Given the description of an element on the screen output the (x, y) to click on. 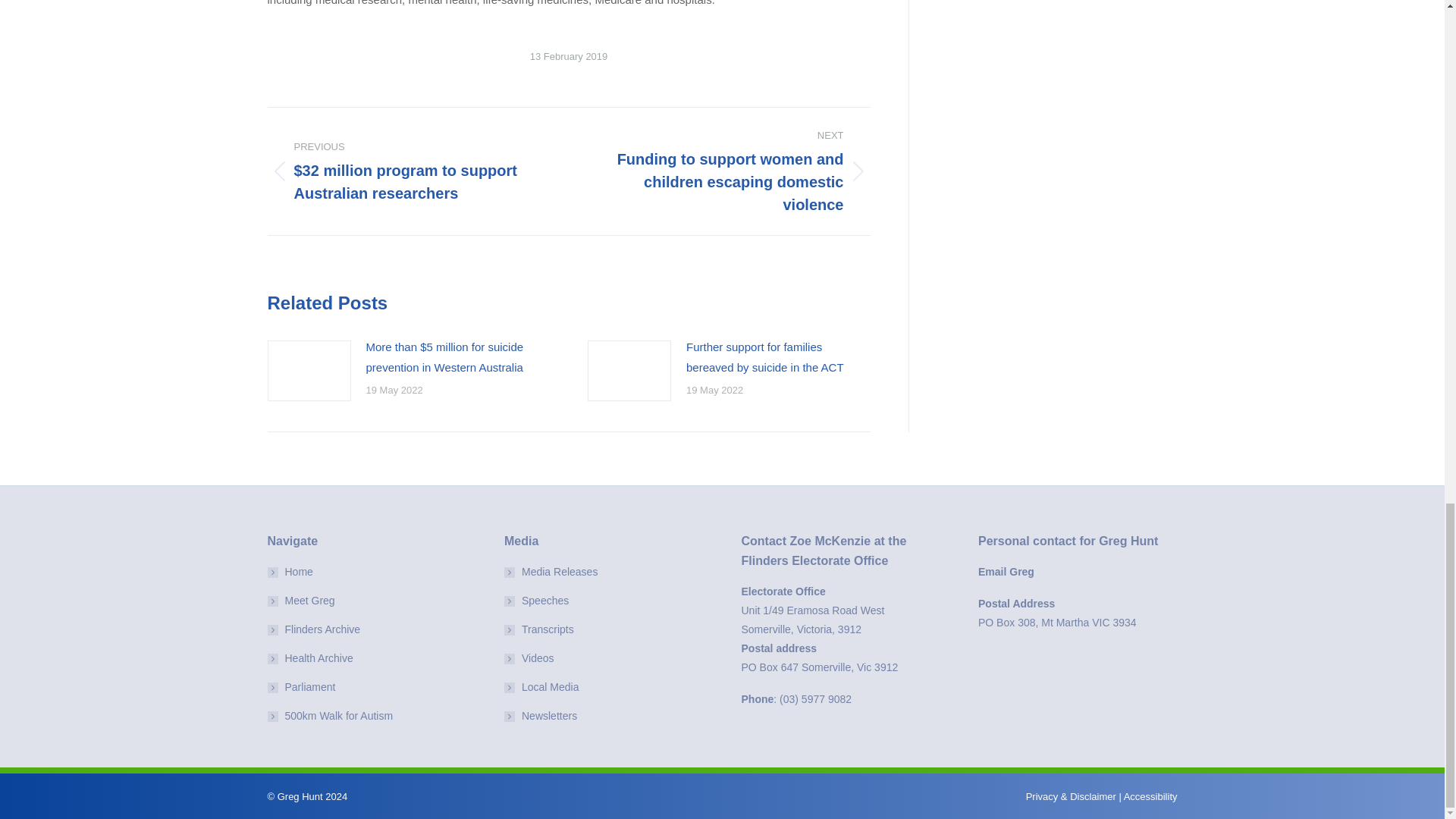
1:15 pm (568, 56)
